Given the description of an element on the screen output the (x, y) to click on. 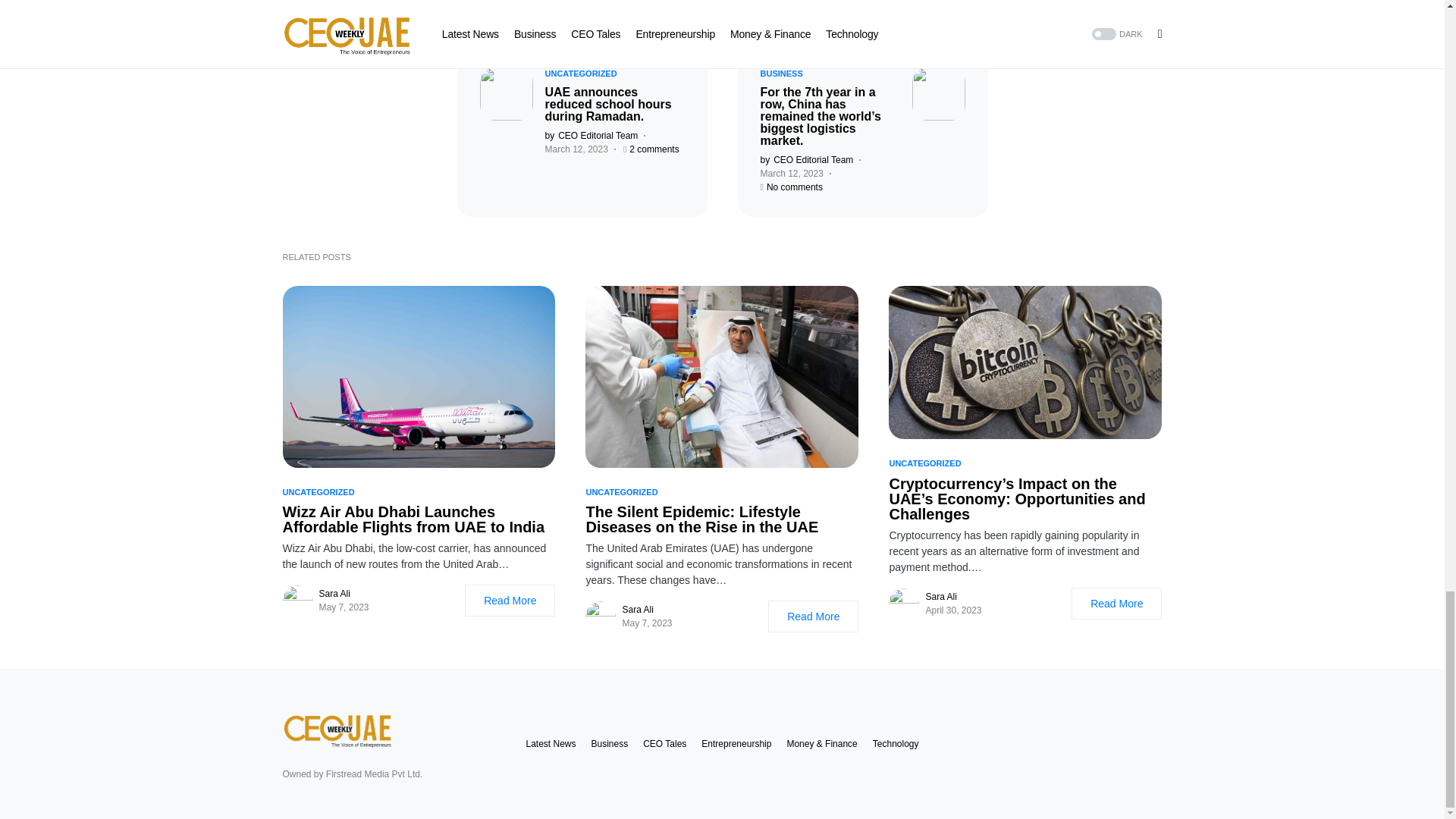
View all posts by CEO Editorial Team (806, 160)
View all posts by CEO Editorial Team (590, 135)
